Given the description of an element on the screen output the (x, y) to click on. 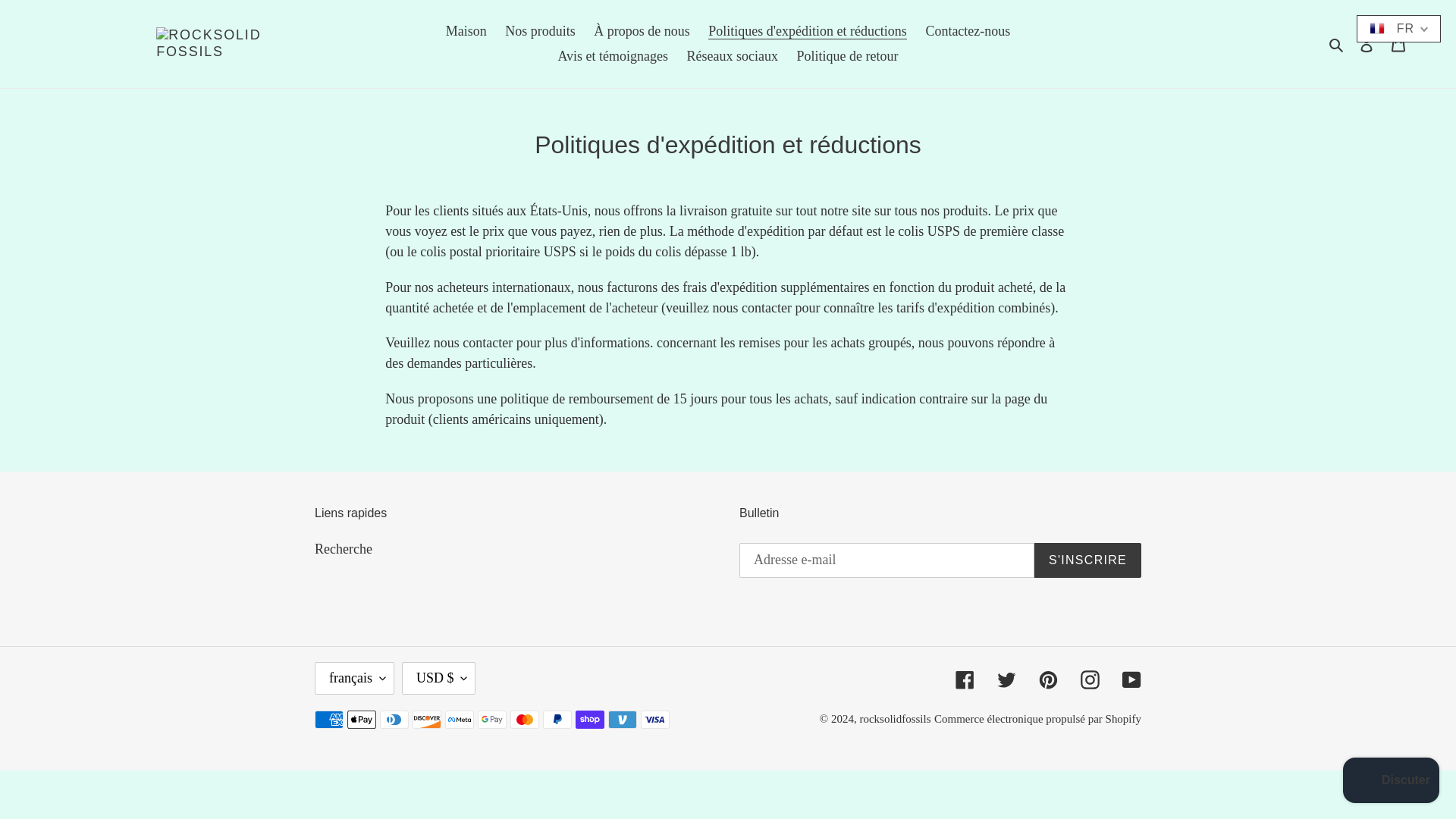
Contactez-nous (967, 31)
Nos produits (540, 31)
Panier (1397, 43)
Rechercher (1337, 44)
Maison (466, 31)
S'INSCRIRE (1087, 560)
Se connecter (1366, 43)
Politique de retour (847, 56)
Recherche (343, 548)
